Given the description of an element on the screen output the (x, y) to click on. 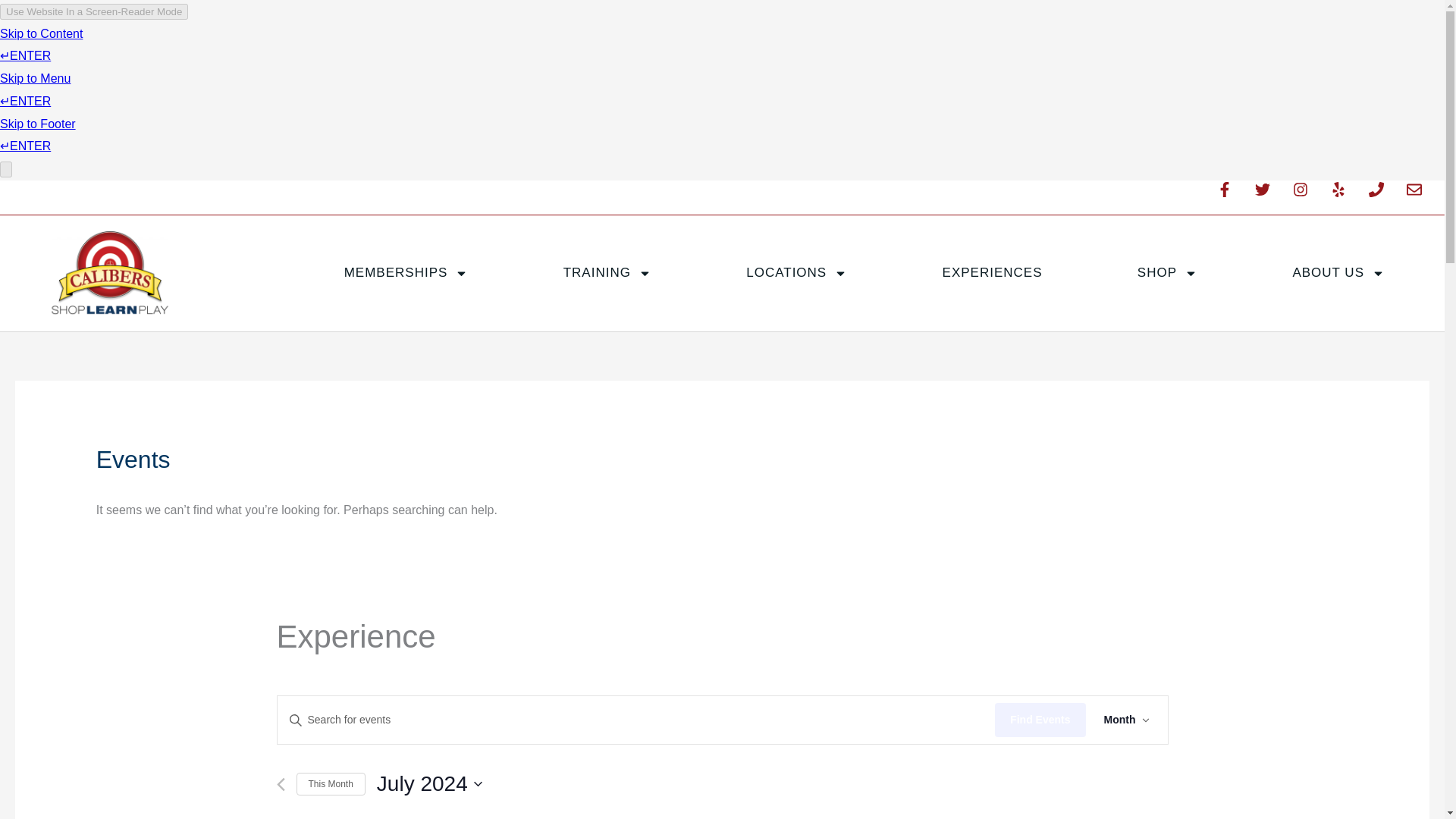
Yelp (1345, 196)
EXPERIENCES (992, 272)
Click to select the current month (330, 784)
Phone (1383, 196)
Click to toggle datepicker (429, 784)
LOCATIONS (796, 272)
MEMBERSHIPS (406, 272)
SHOP (1166, 272)
ABOUT US (1338, 272)
TRAINING (606, 272)
Facebook-f (1232, 196)
Twitter (1270, 196)
Instagram (1307, 196)
Envelope (1421, 196)
